Given the description of an element on the screen output the (x, y) to click on. 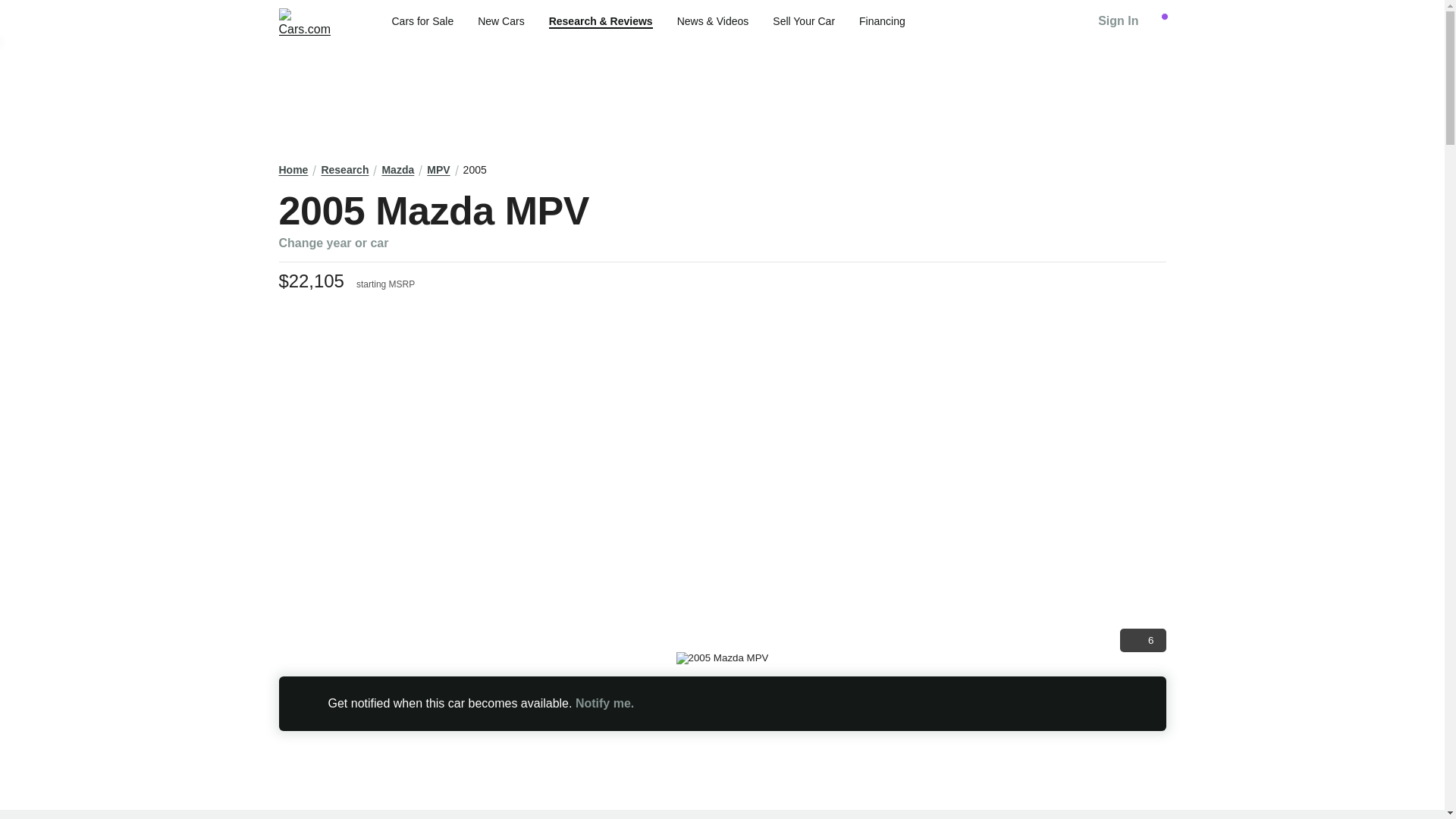
Research (344, 170)
Mazda (397, 170)
Cars for Sale (421, 21)
Sell Your Car (803, 21)
No 2005 Mazda MPV inventory available (722, 703)
New Cars (500, 21)
Financing (882, 21)
Skip to main content (12, 11)
Home (293, 170)
MPV (437, 170)
